Given the description of an element on the screen output the (x, y) to click on. 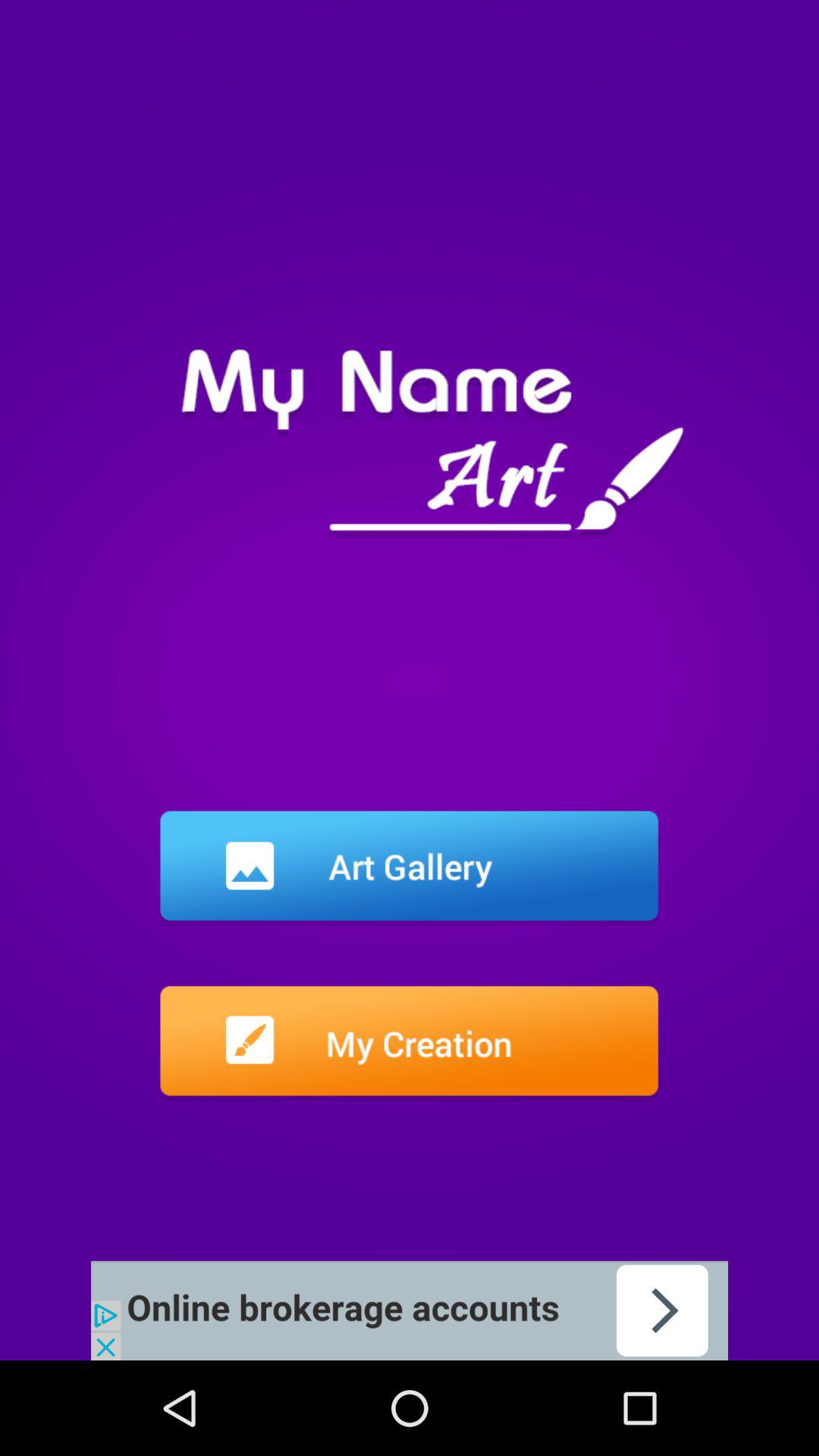
view creation (409, 1043)
